Given the description of an element on the screen output the (x, y) to click on. 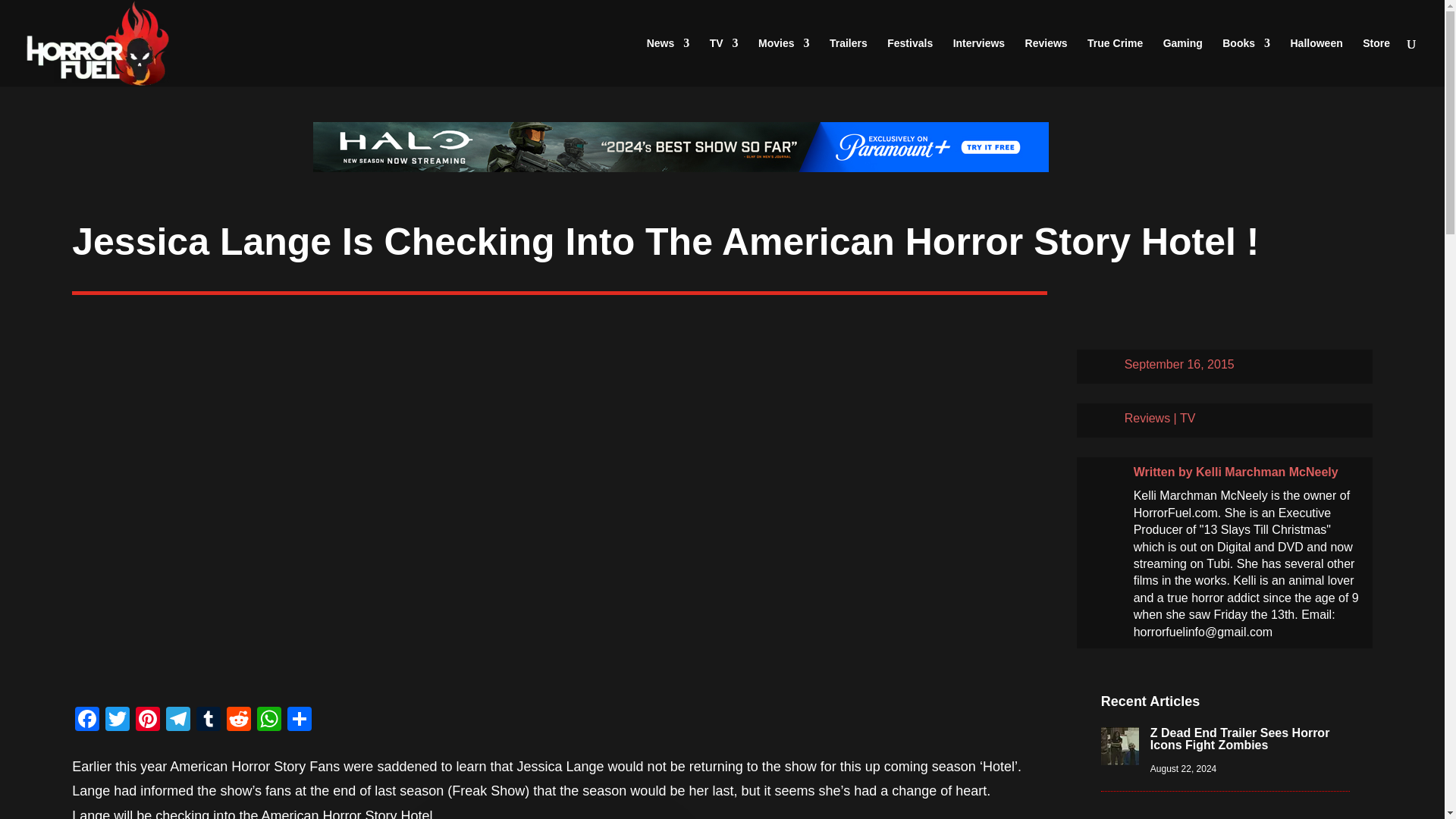
Festivals (909, 61)
Twitter (116, 720)
Movies (783, 61)
Tumblr (208, 720)
News (668, 61)
WhatsApp (268, 720)
Reddit (238, 720)
Facebook (86, 720)
Telegram (178, 720)
Pinterest (147, 720)
